Given the description of an element on the screen output the (x, y) to click on. 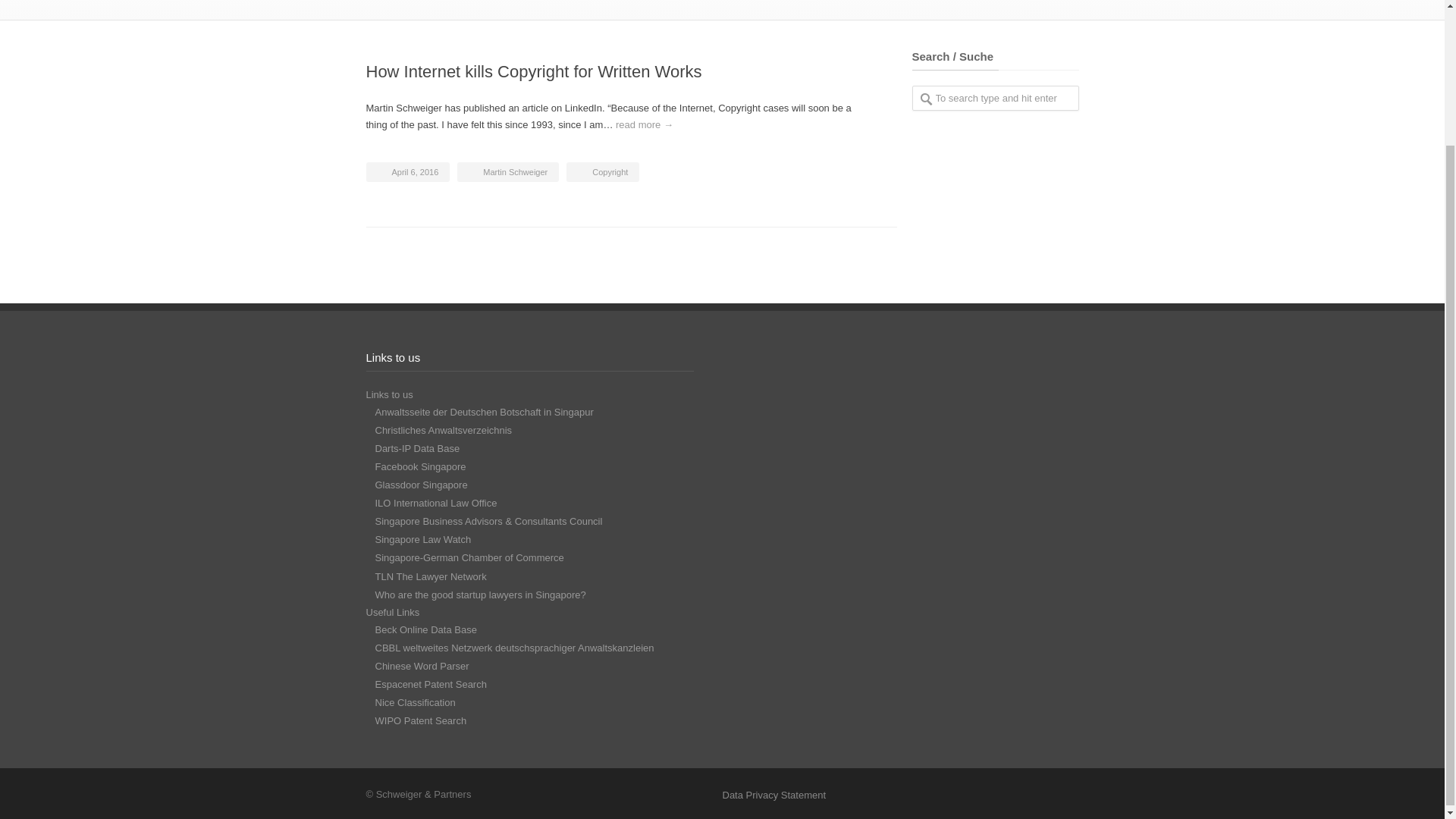
Facebook (999, 794)
Nice Classification (414, 702)
RSS (1060, 794)
Data Privacy Statement (773, 794)
Singapore-German Chamber of Commerce (468, 557)
Glassdoor Singapore (420, 484)
Darts-IP Data Base (417, 448)
Espacenet Patent Search (430, 684)
TLN The Lawyer Network (430, 576)
Copyright (609, 171)
Who are the good startup lawyers in Singapore? (479, 594)
To search type and hit enter (994, 97)
CBBL weltweites Netzwerk deutschsprachiger Anwaltskanzleien (513, 647)
Permalink to How Internet kills Copyright for Written Works (533, 71)
Martin Schweiger (515, 171)
